Given the description of an element on the screen output the (x, y) to click on. 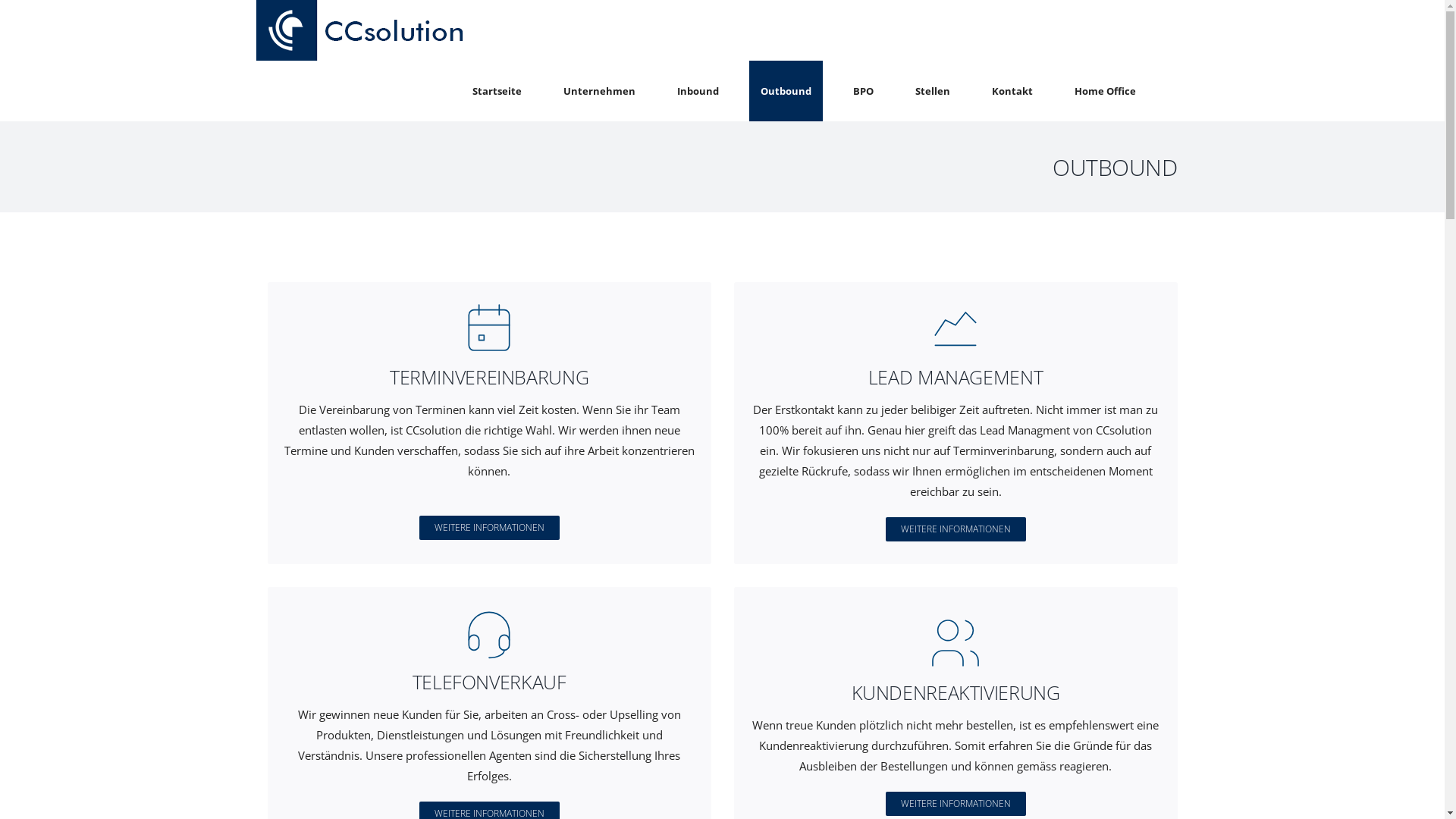
Outbound Element type: text (785, 90)
Inbound Element type: text (697, 90)
WEITERE INFORMATIONEN Element type: text (955, 529)
Kontakt Element type: text (1011, 90)
Home Office Element type: text (1105, 90)
WEITERE INFORMATIONEN Element type: text (488, 527)
Startseite Element type: text (497, 90)
WEITERE INFORMATIONEN Element type: text (955, 803)
Unternehmen Element type: text (599, 90)
BPO Element type: text (862, 90)
Stellen Element type: text (932, 90)
